Given the description of an element on the screen output the (x, y) to click on. 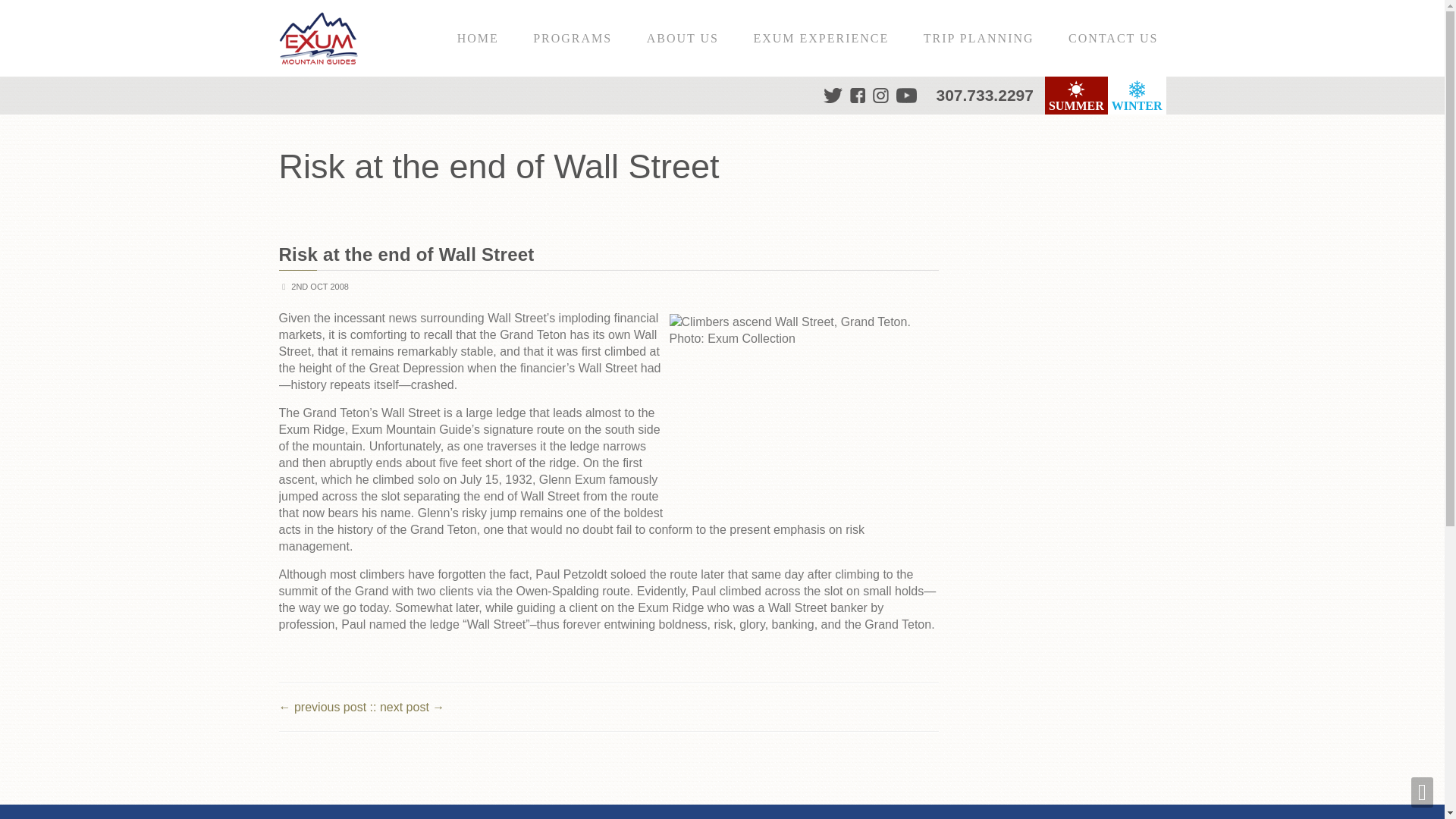
TRIP PLANNING (978, 38)
WINTER (1137, 95)
CONTACT US (1112, 38)
EXUM EXPERIENCE (820, 38)
ABOUT US (681, 38)
PROGRAMS (571, 38)
SUMMER (1076, 95)
HOME (477, 38)
307.733.2297 (984, 94)
Risk at the end of Wall Street (406, 254)
